Given the description of an element on the screen output the (x, y) to click on. 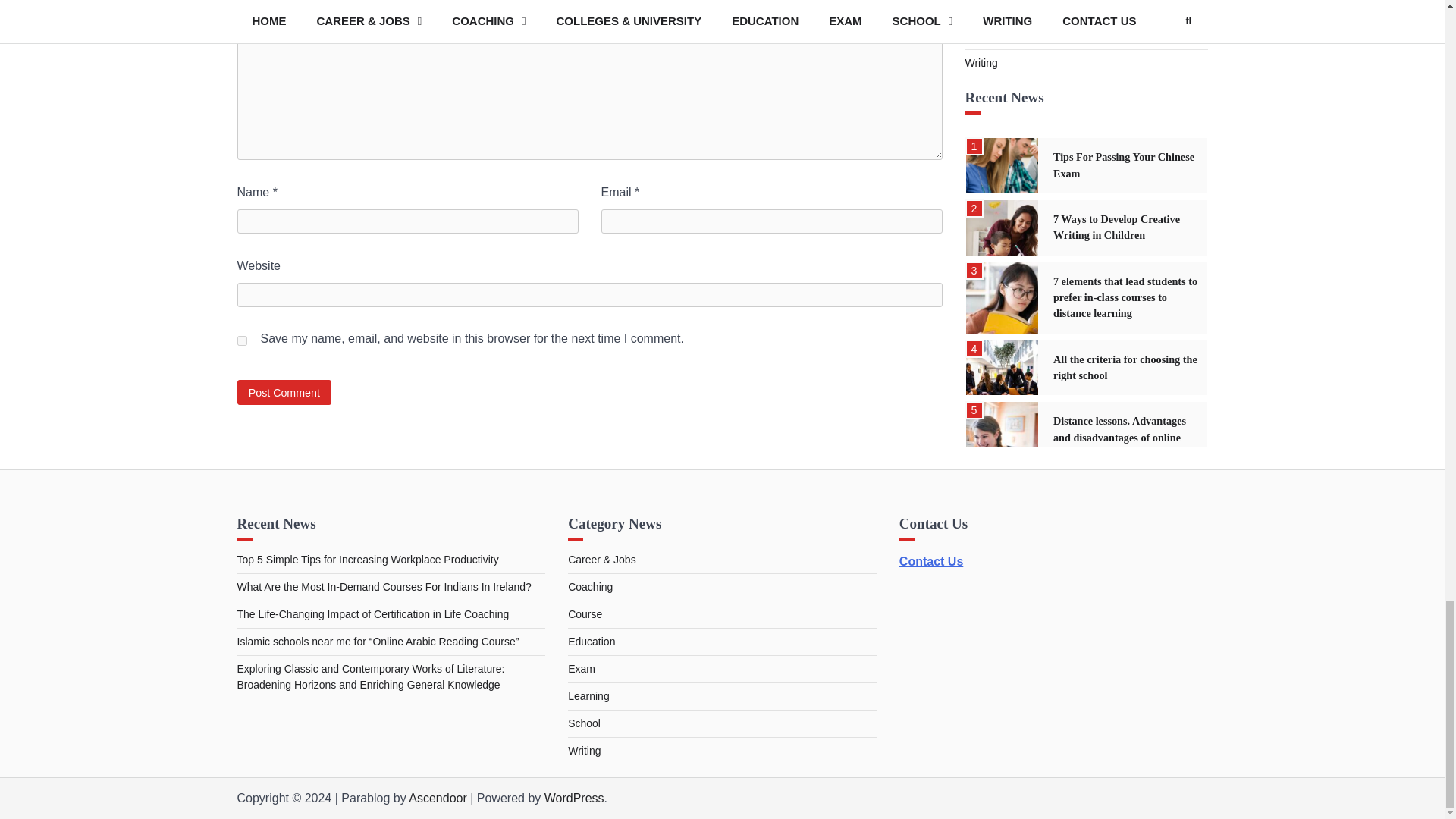
Post Comment (283, 392)
yes (240, 340)
Post Comment (283, 392)
